Given the description of an element on the screen output the (x, y) to click on. 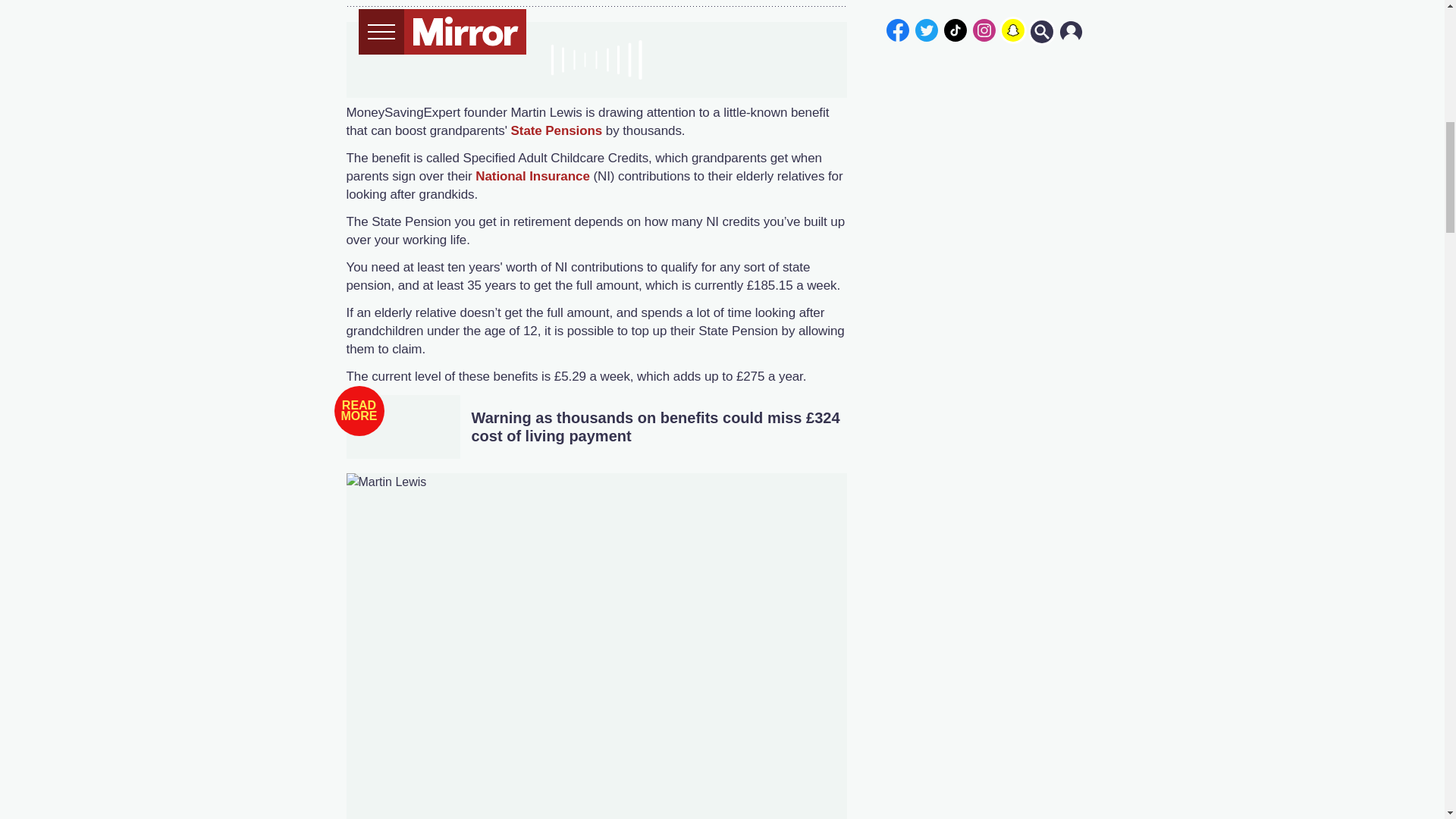
National Insurance (532, 175)
State Pensions (556, 130)
